Given the description of an element on the screen output the (x, y) to click on. 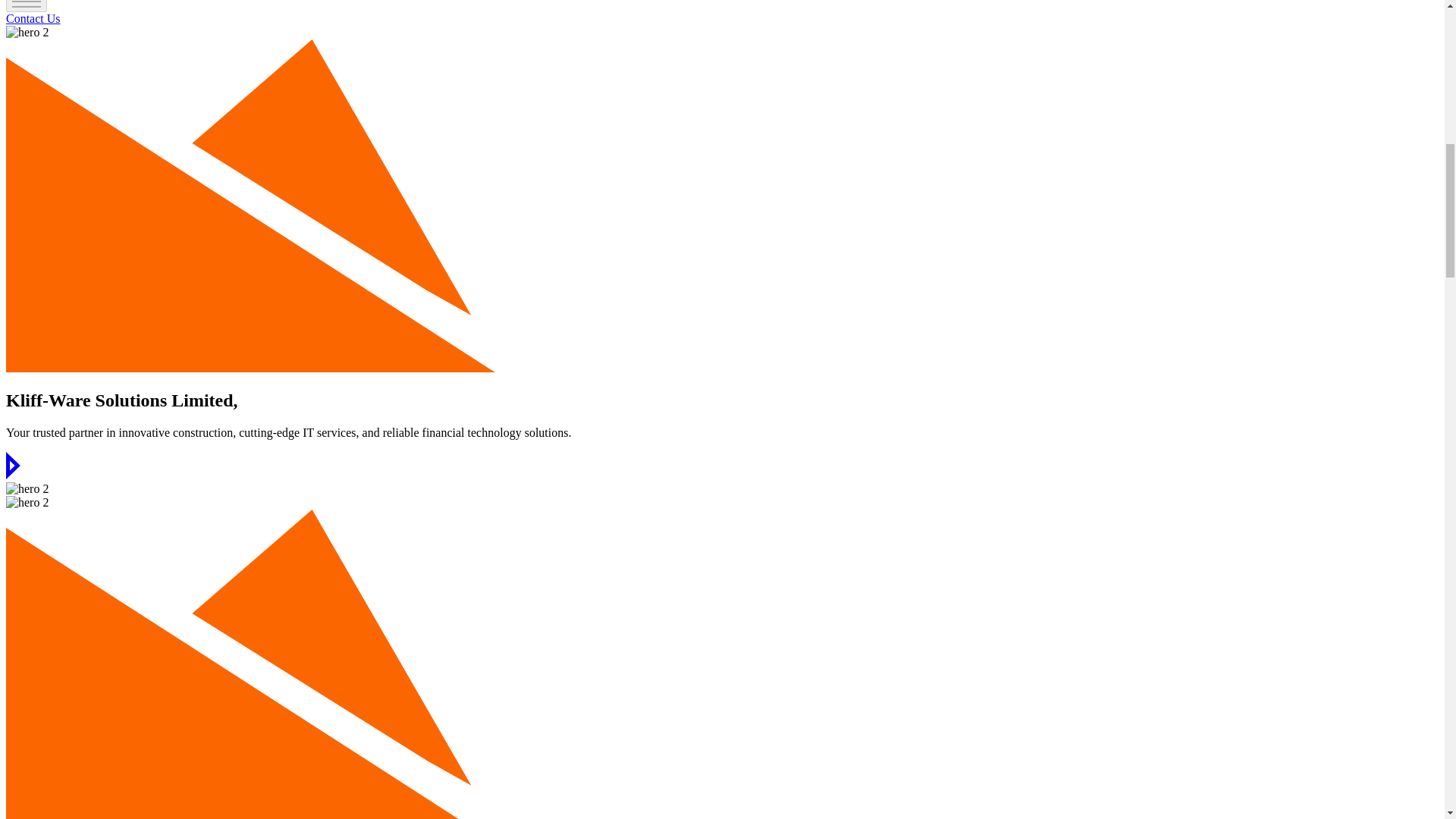
Contact Us (33, 18)
